Given the description of an element on the screen output the (x, y) to click on. 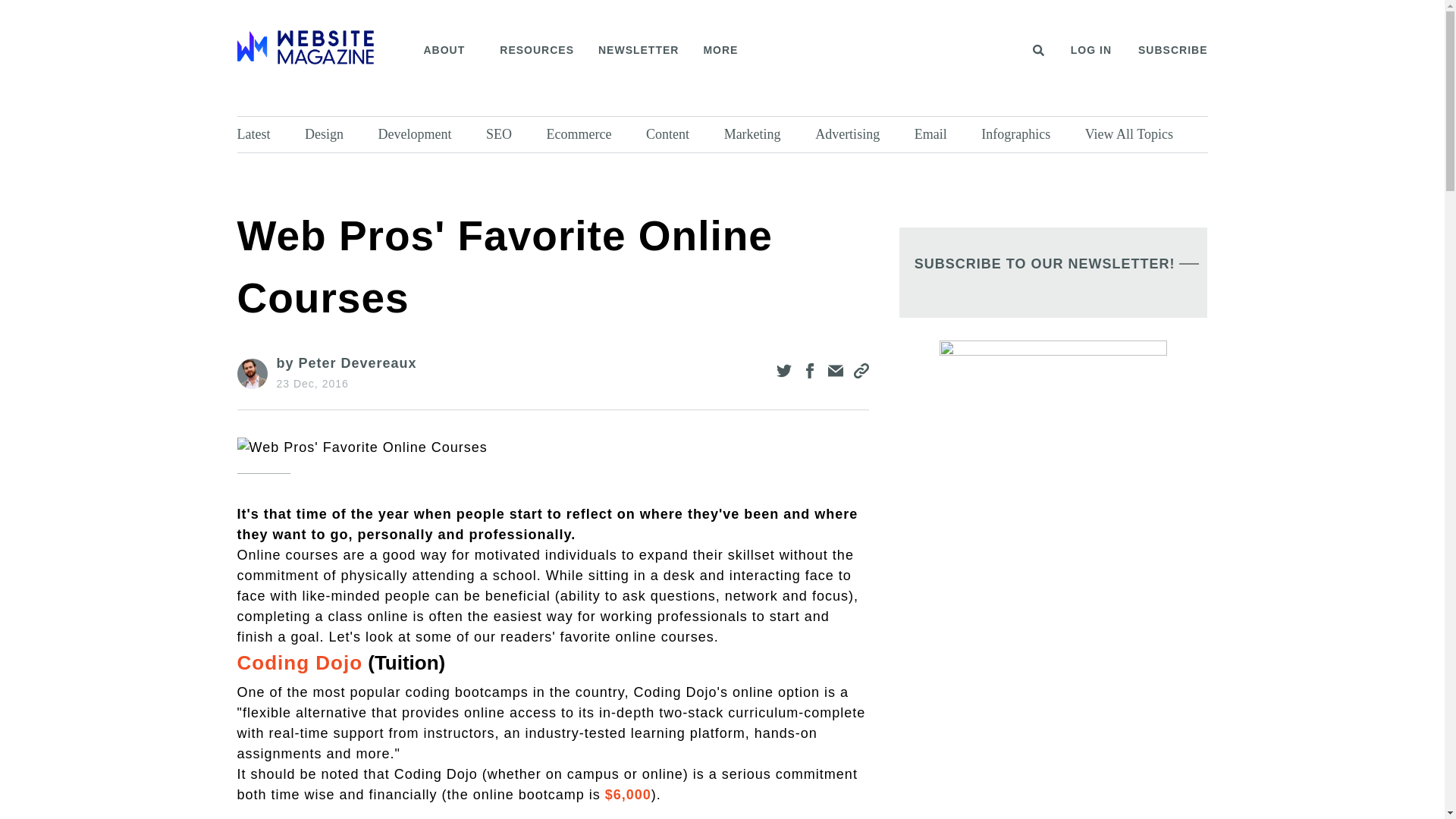
Website Magazine Logo (303, 47)
Design (337, 134)
RESOURCES (536, 50)
by Peter Devereaux (346, 362)
LOG IN (1091, 50)
Infographics (1029, 134)
Latest (266, 134)
Email (944, 134)
Development (428, 134)
Coding Dojo (298, 662)
ABOUT (449, 50)
Content (681, 134)
Ecommerce (593, 134)
MORE (725, 50)
View All Topics (1141, 134)
